Given the description of an element on the screen output the (x, y) to click on. 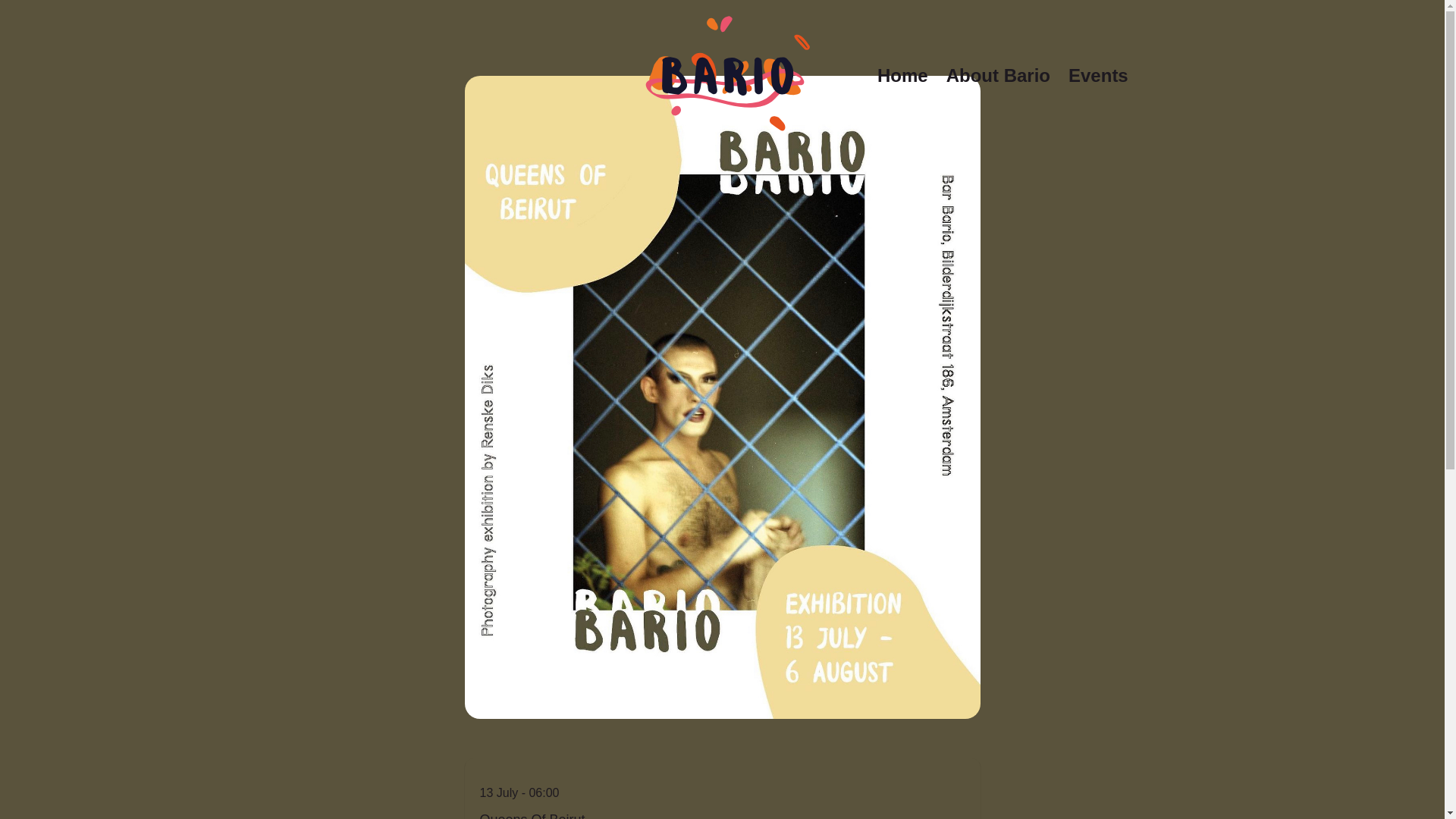
Home (902, 75)
Events (1098, 75)
About Bario (997, 75)
